Given the description of an element on the screen output the (x, y) to click on. 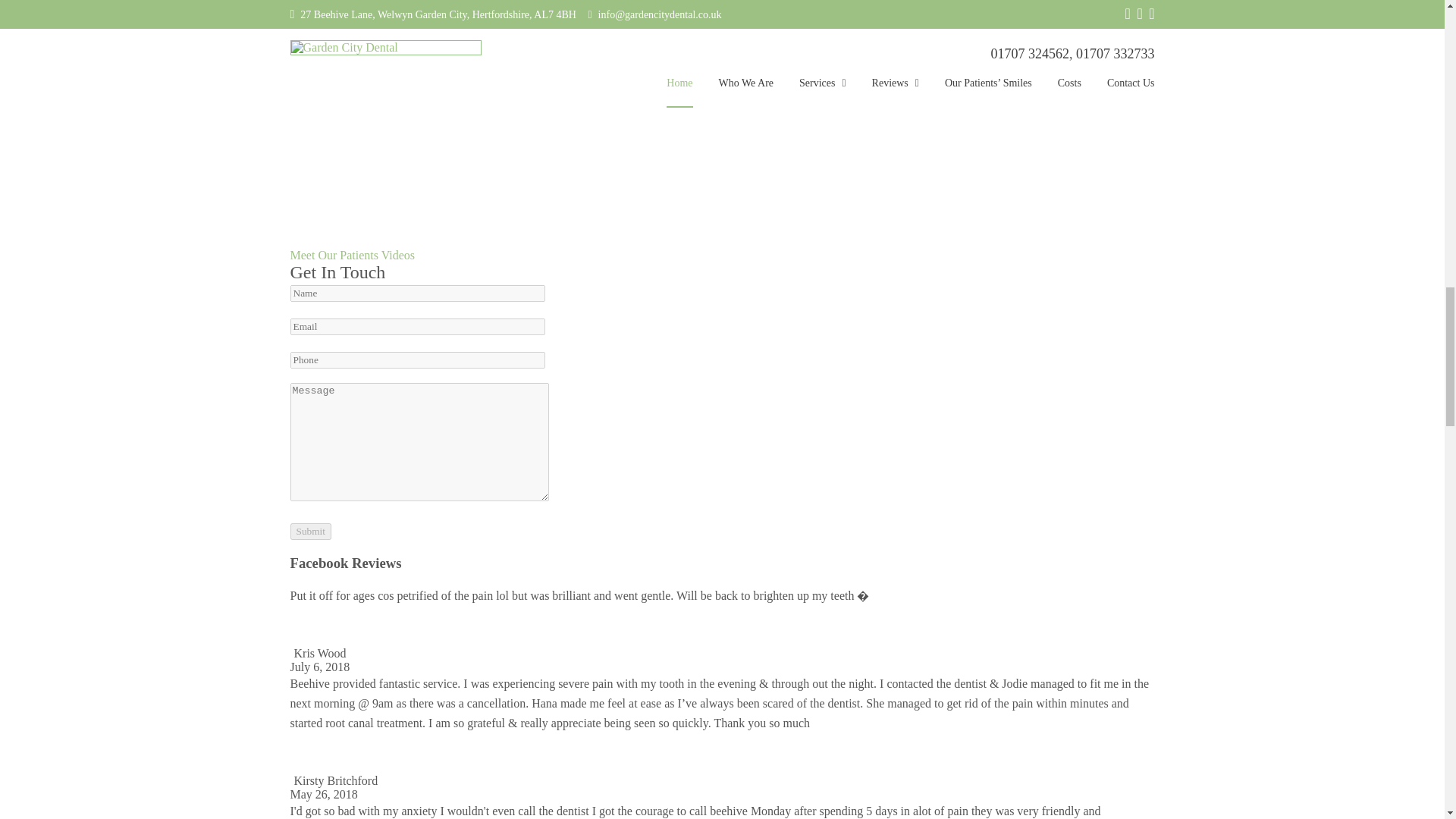
Submit (310, 531)
Submit (310, 531)
